Given the description of an element on the screen output the (x, y) to click on. 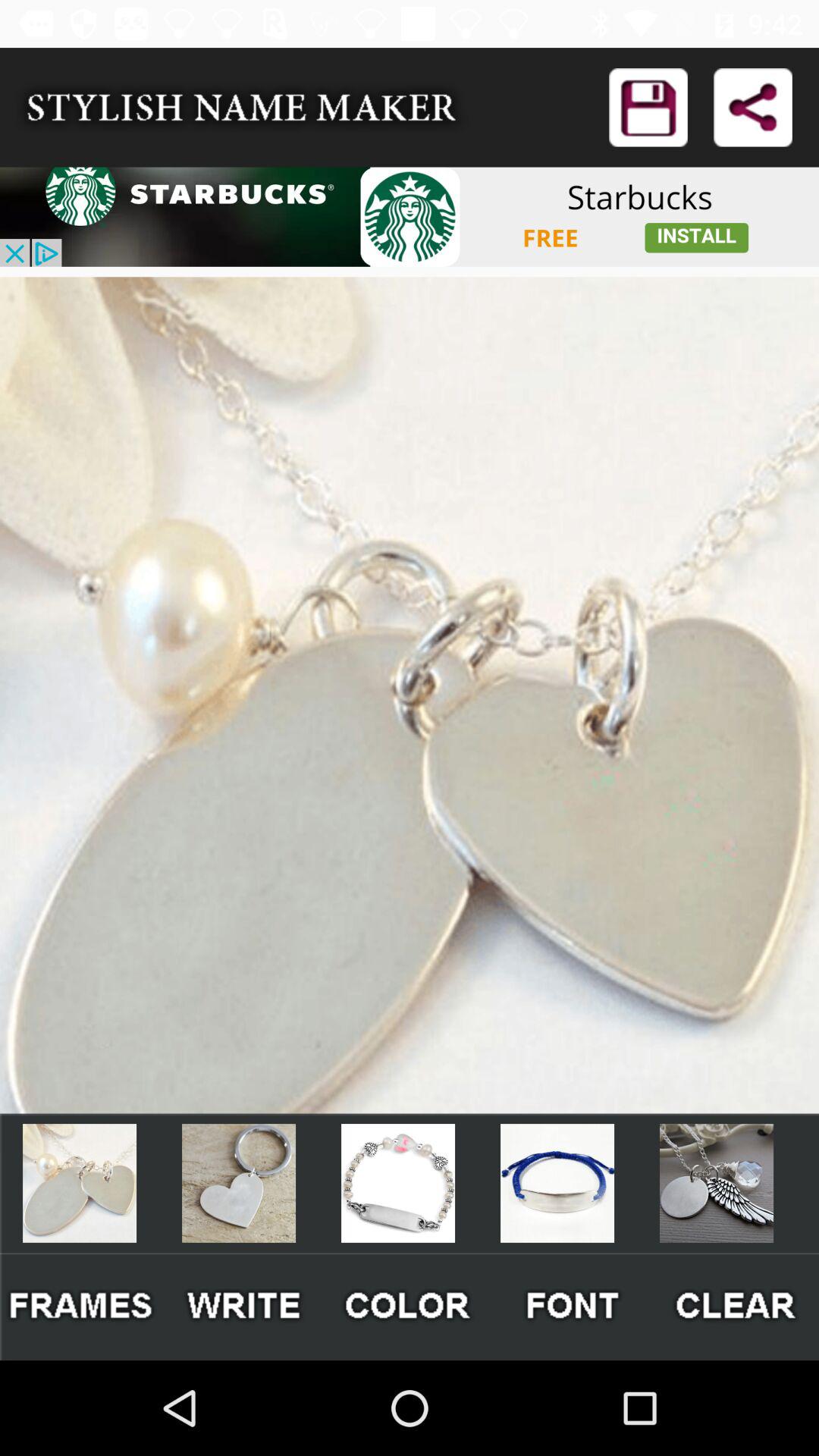
clears (737, 1306)
